Given the description of an element on the screen output the (x, y) to click on. 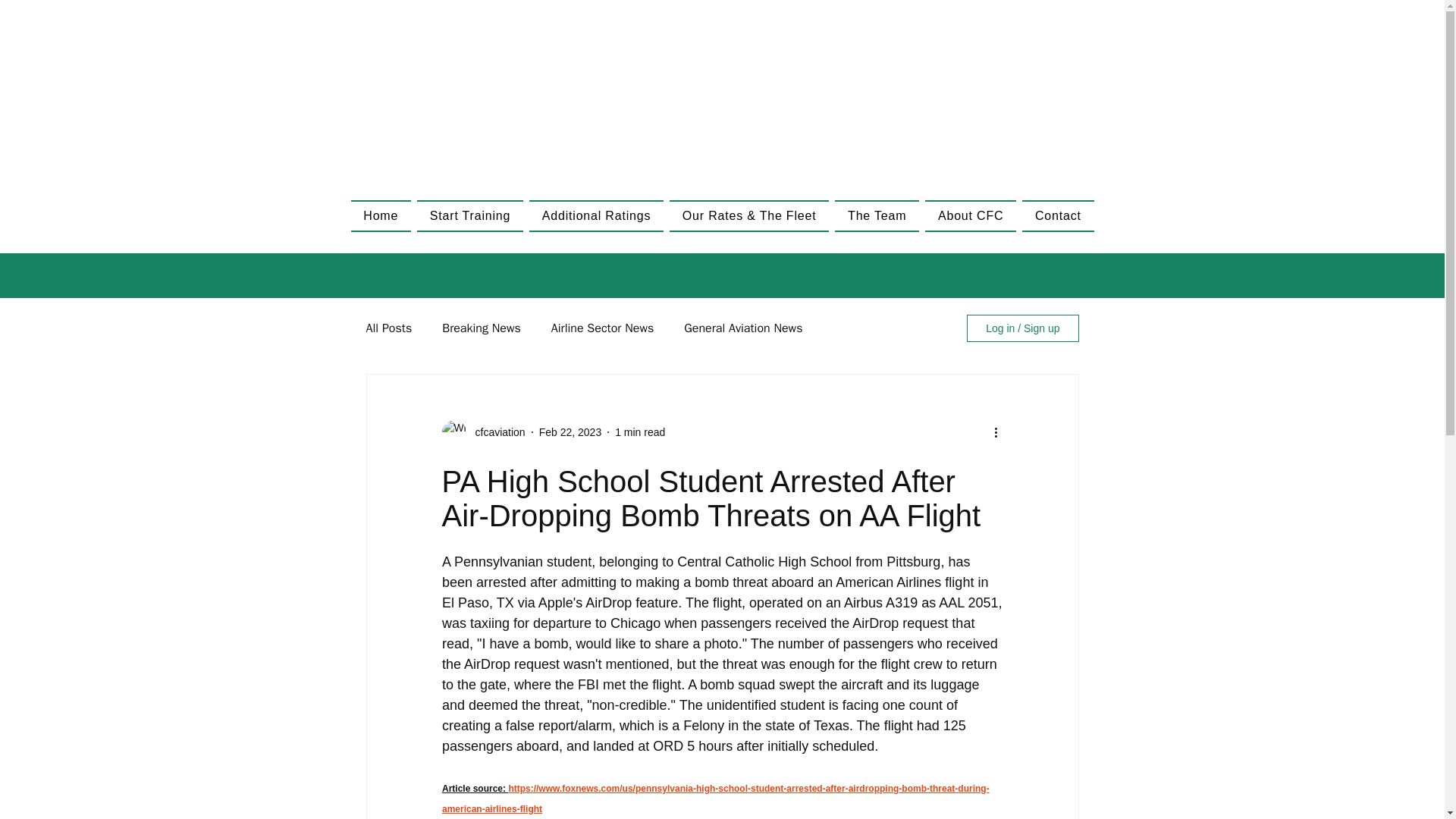
Airline Sector News (602, 327)
Start Training (469, 215)
All Posts (388, 327)
Additional Ratings (596, 215)
1 min read (639, 431)
General Aviation News (743, 327)
Contact (1057, 215)
About CFC (970, 215)
The Team (876, 215)
cfcaviation (494, 432)
